Given the description of an element on the screen output the (x, y) to click on. 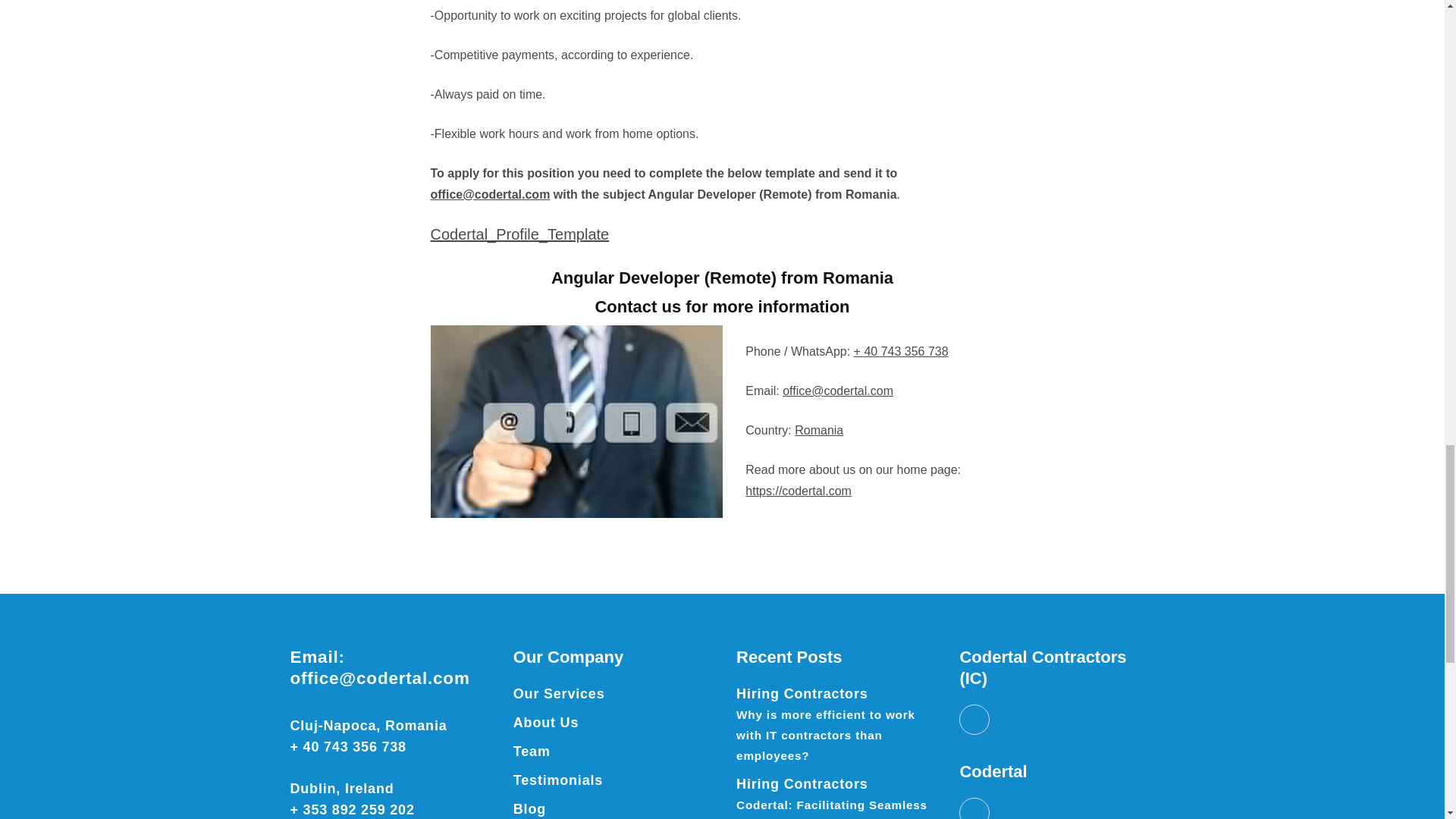
About Us (545, 722)
Testimonials (557, 780)
linkedin (974, 808)
Management Team (531, 751)
Our Services (559, 693)
linkedin (974, 719)
